Given the description of an element on the screen output the (x, y) to click on. 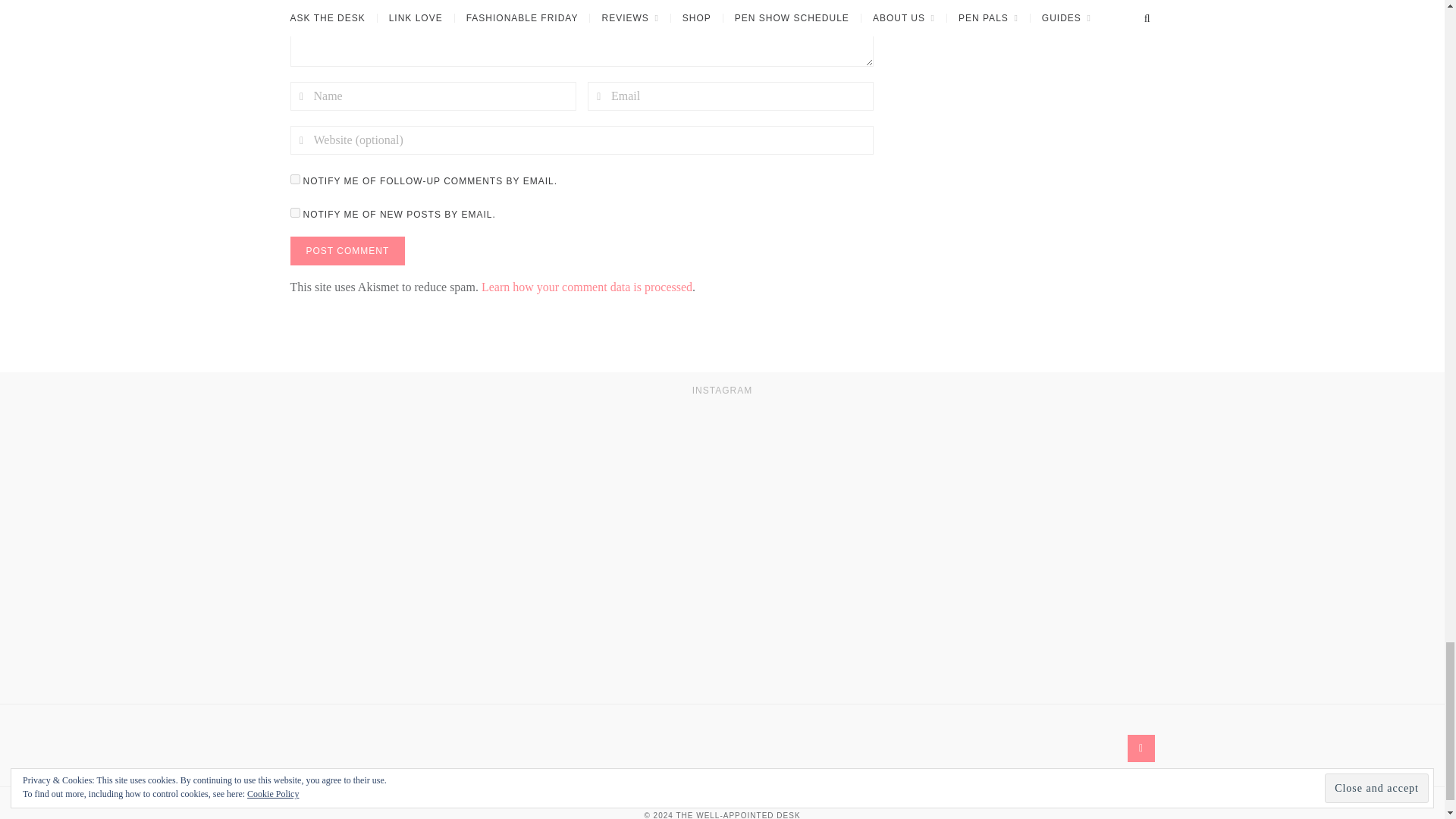
subscribe (294, 212)
Post Comment (346, 250)
subscribe (294, 179)
